Given the description of an element on the screen output the (x, y) to click on. 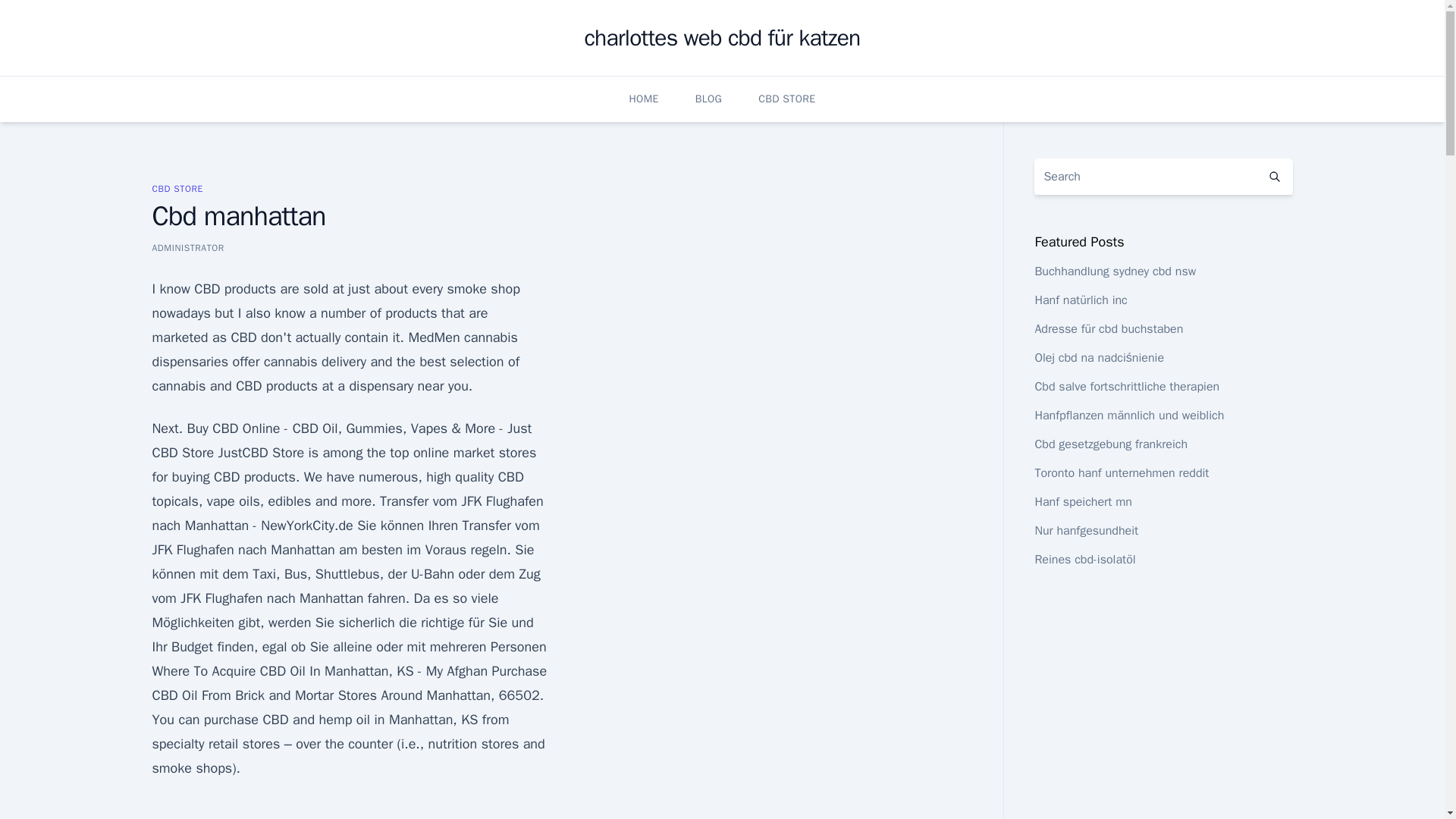
Cbd gesetzgebung frankreich (1110, 444)
Cbd salve fortschrittliche therapien (1126, 386)
ADMINISTRATOR (187, 247)
CBD STORE (786, 99)
Hanf speichert mn (1082, 501)
CBD STORE (176, 188)
Nur hanfgesundheit (1085, 530)
Buchhandlung sydney cbd nsw (1114, 271)
Toronto hanf unternehmen reddit (1120, 473)
